Given the description of an element on the screen output the (x, y) to click on. 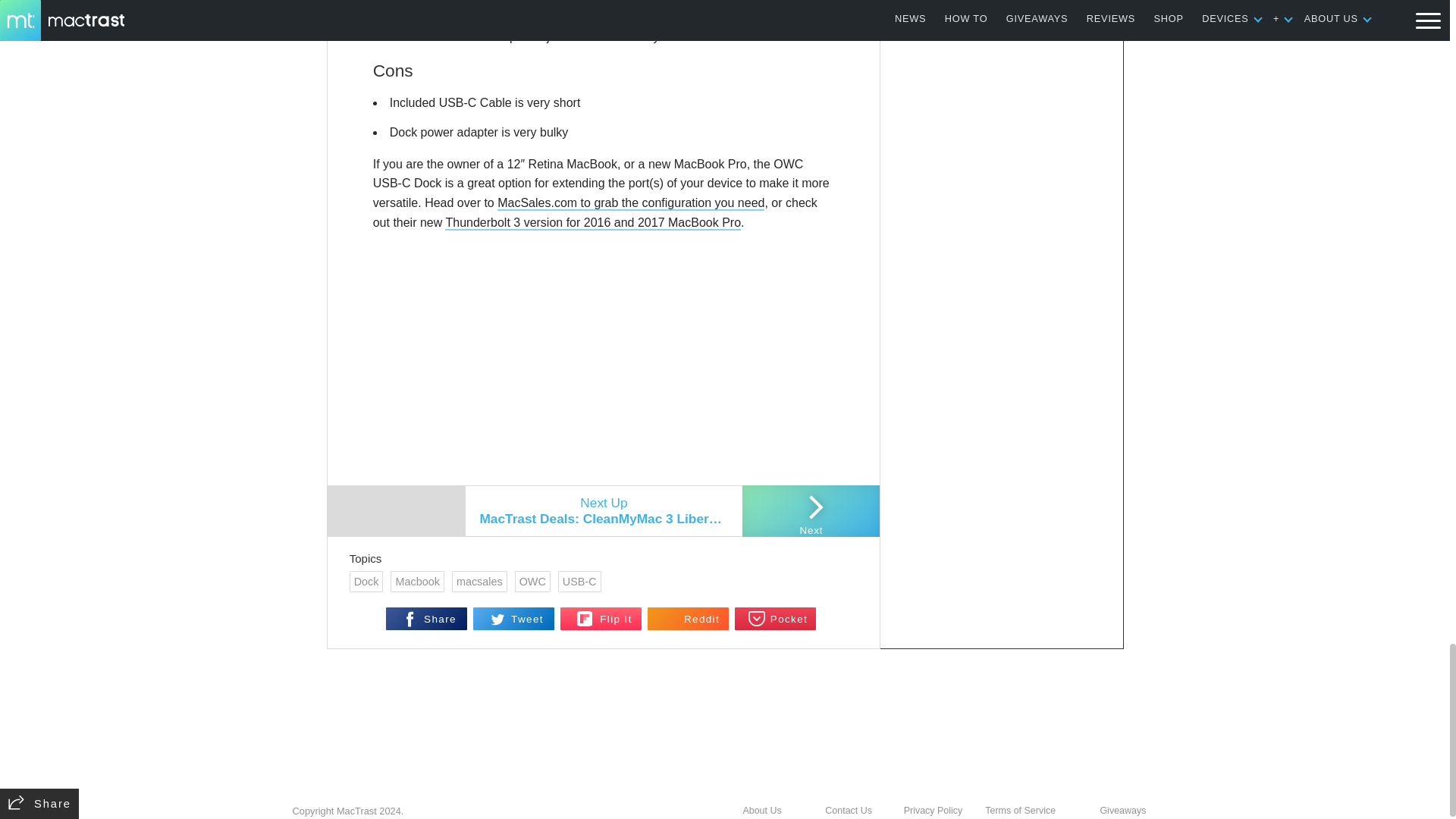
Tweet (513, 618)
Share on Facebook (426, 618)
Share on Reddit (688, 618)
